Given the description of an element on the screen output the (x, y) to click on. 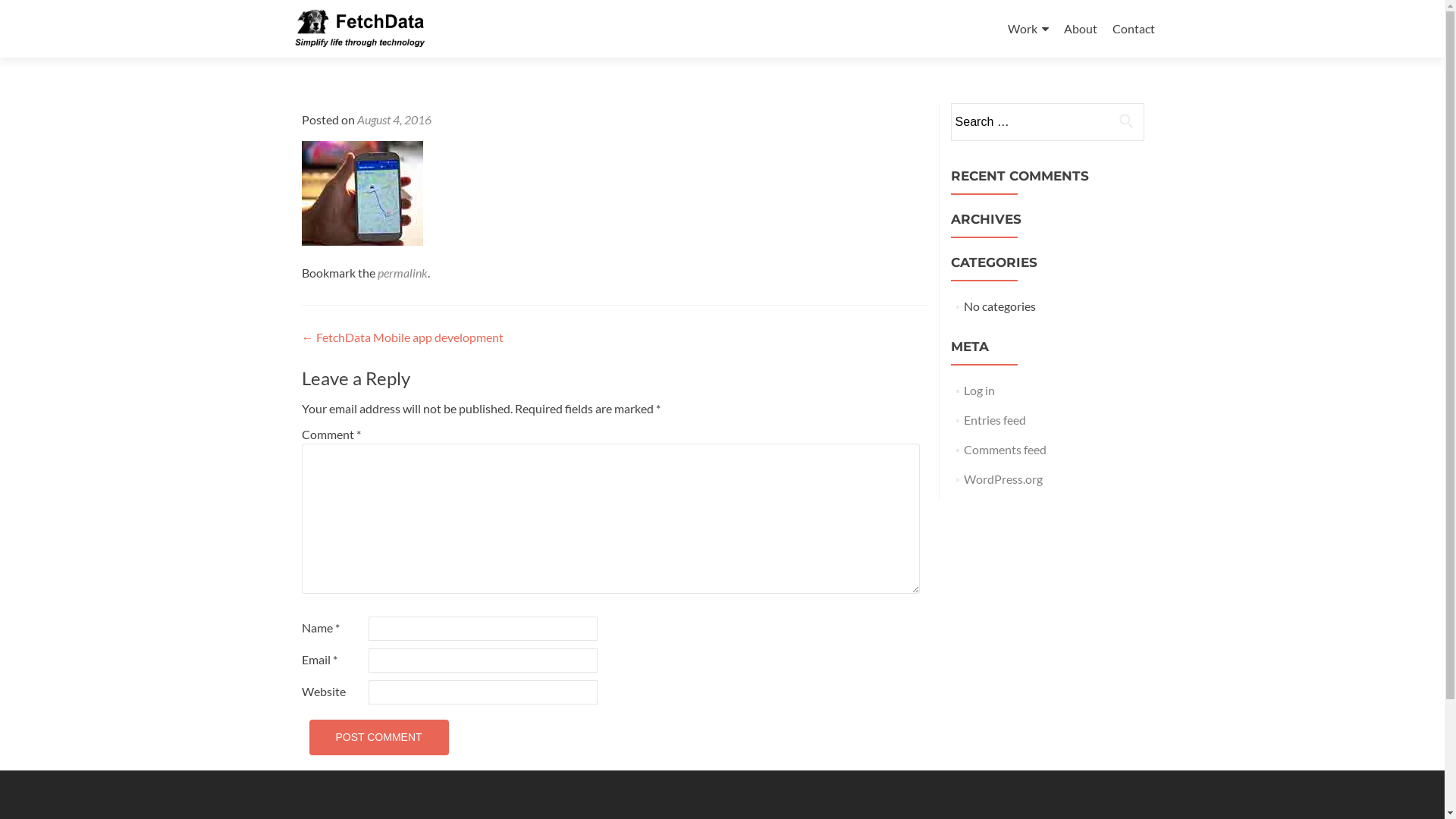
About Element type: text (1079, 28)
Search Element type: text (1125, 120)
Work Element type: text (1027, 28)
August 4, 2016 Element type: text (393, 119)
Contact Element type: text (1132, 28)
WordPress.org Element type: text (1002, 478)
Post Comment Element type: text (378, 737)
Comments feed Element type: text (1004, 449)
permalink Element type: text (402, 272)
Entries feed Element type: text (994, 419)
Log in Element type: text (978, 389)
